Given the description of an element on the screen output the (x, y) to click on. 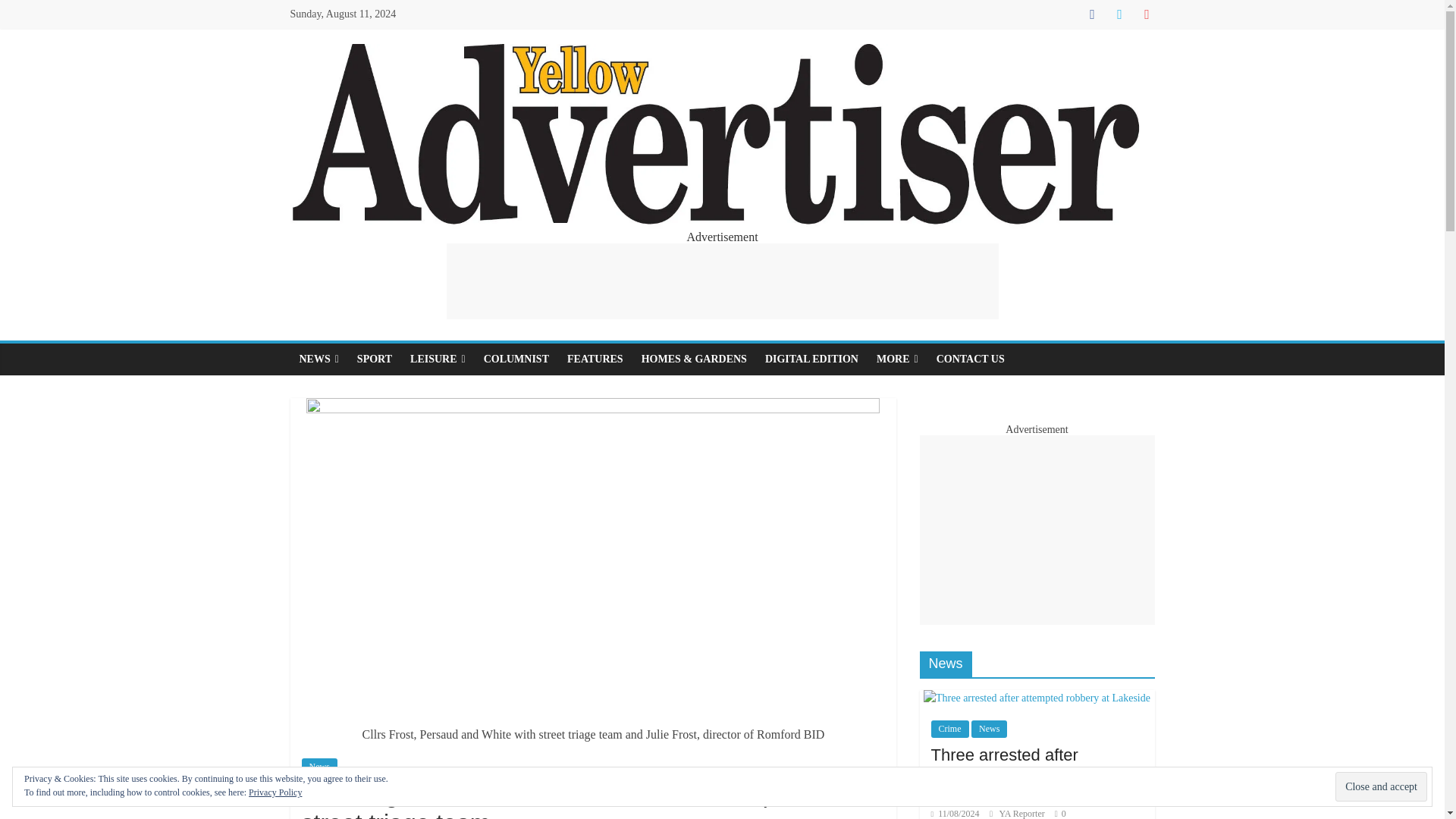
NEWS (318, 359)
Close and accept (1380, 786)
COLUMNIST (515, 359)
Advertisement (721, 281)
FEATURES (594, 359)
DIGITAL EDITION (811, 359)
MORE (897, 359)
LEISURE (437, 359)
SPORT (374, 359)
